Given the description of an element on the screen output the (x, y) to click on. 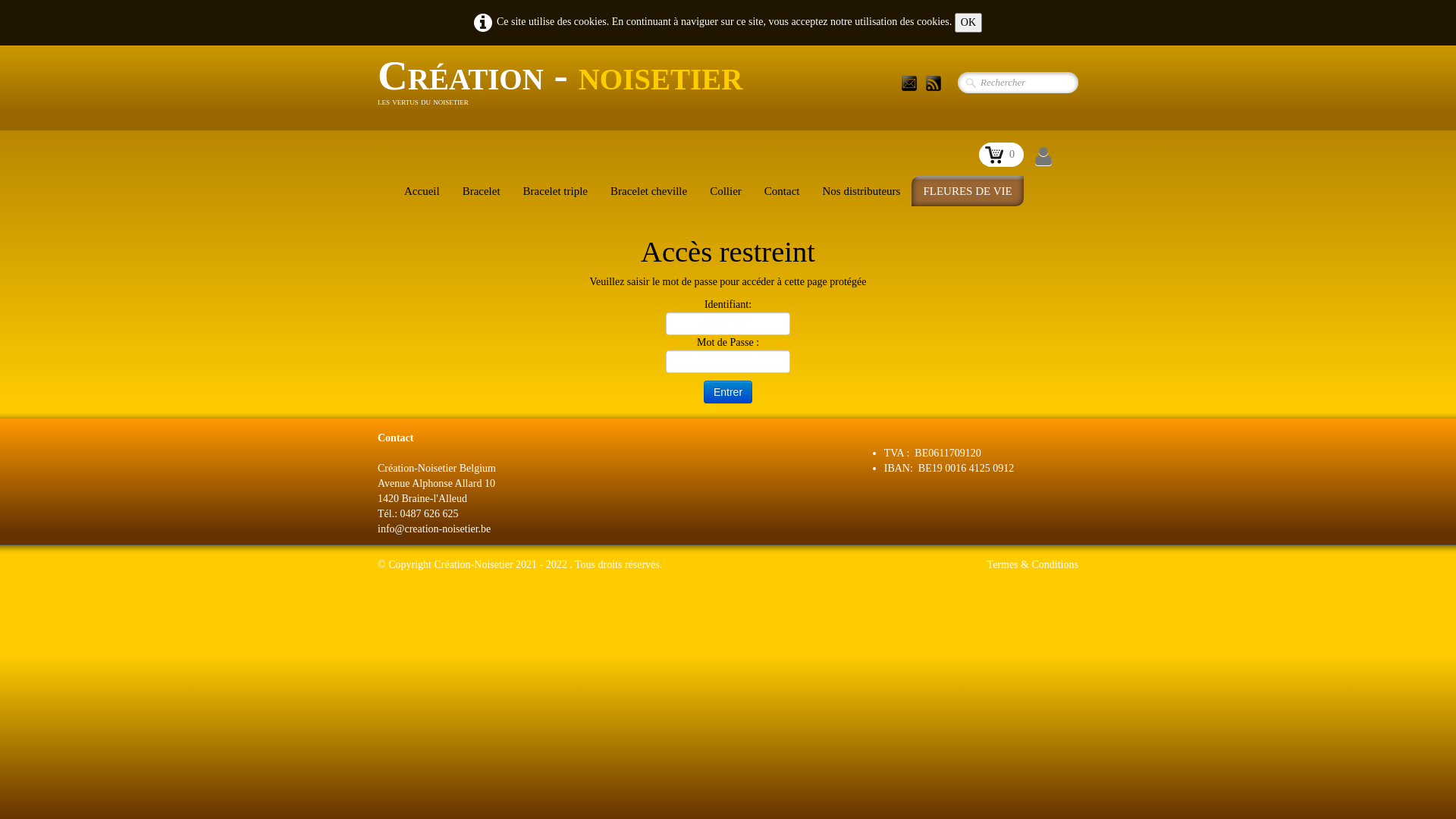
Entrer Element type: text (727, 391)
0 Element type: text (1001, 154)
Contact Element type: text (782, 190)
Bracelet cheville Element type: text (648, 190)
Nos distributeurs Element type: text (861, 190)
Termes & Conditions Element type: text (1032, 564)
Bracelet triple Element type: text (555, 190)
Collier Element type: text (725, 190)
Accueil Element type: text (421, 190)
FLEURES DE VIE Element type: text (966, 190)
OK Element type: text (968, 22)
Mon compte Element type: hover (1043, 156)
Bracelet Element type: text (481, 190)
